Given the description of an element on the screen output the (x, y) to click on. 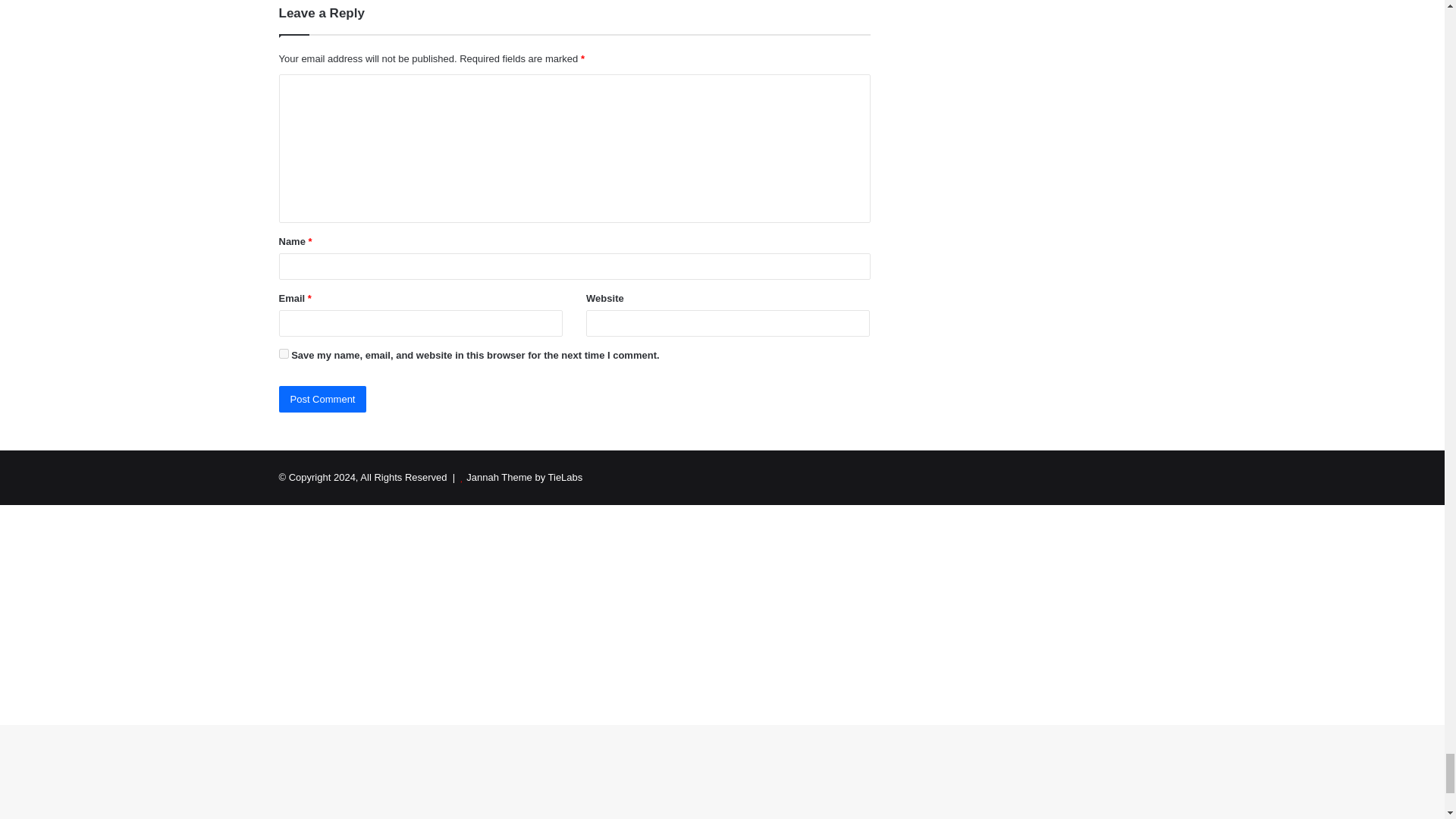
yes (283, 353)
Post Comment (322, 398)
